Given the description of an element on the screen output the (x, y) to click on. 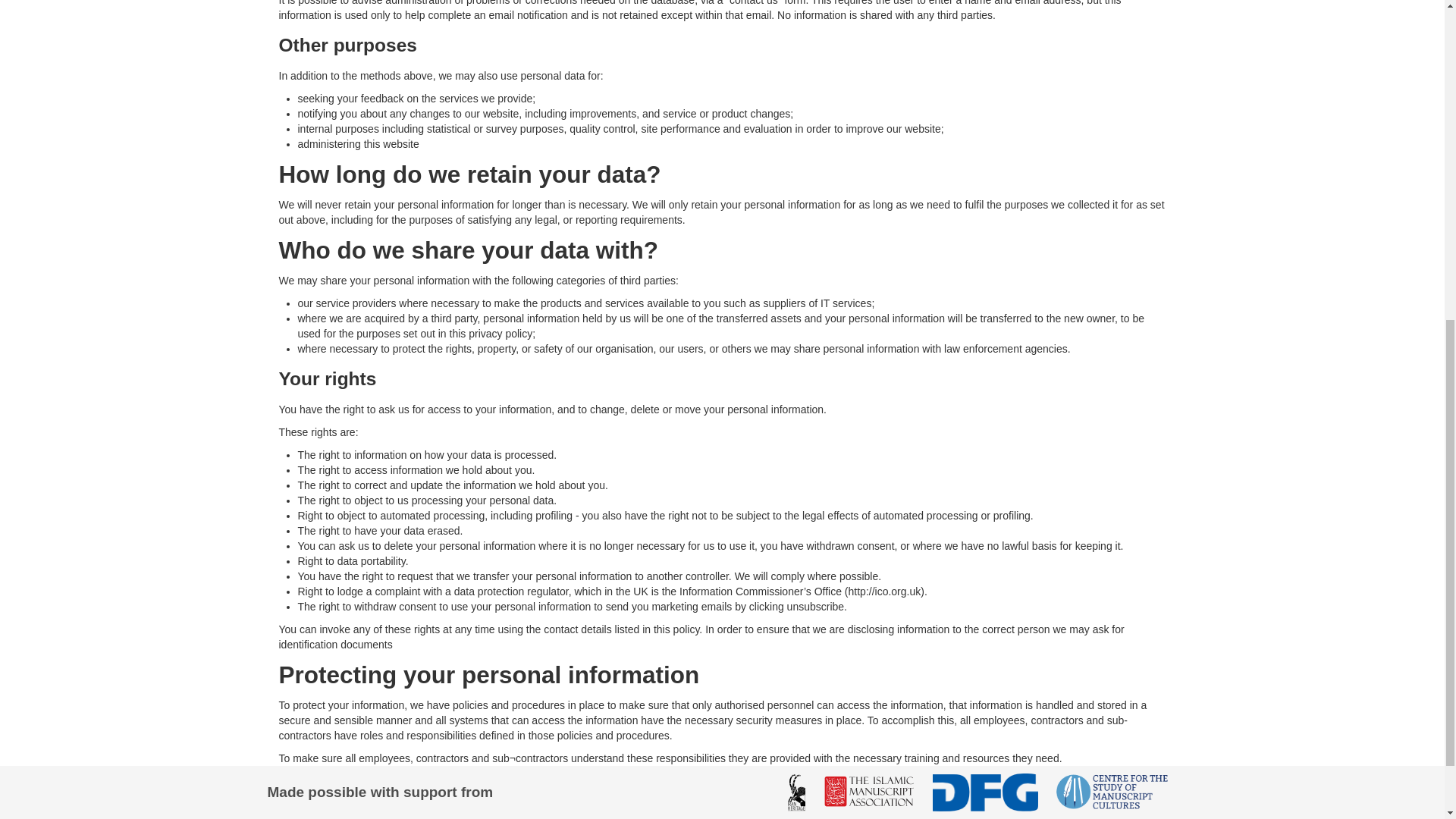
Iran Heritage Foundation (795, 224)
The Islamic Manuscript Association (868, 224)
Made possible with support from (379, 224)
dfg (984, 224)
csmc (1112, 224)
